Given the description of an element on the screen output the (x, y) to click on. 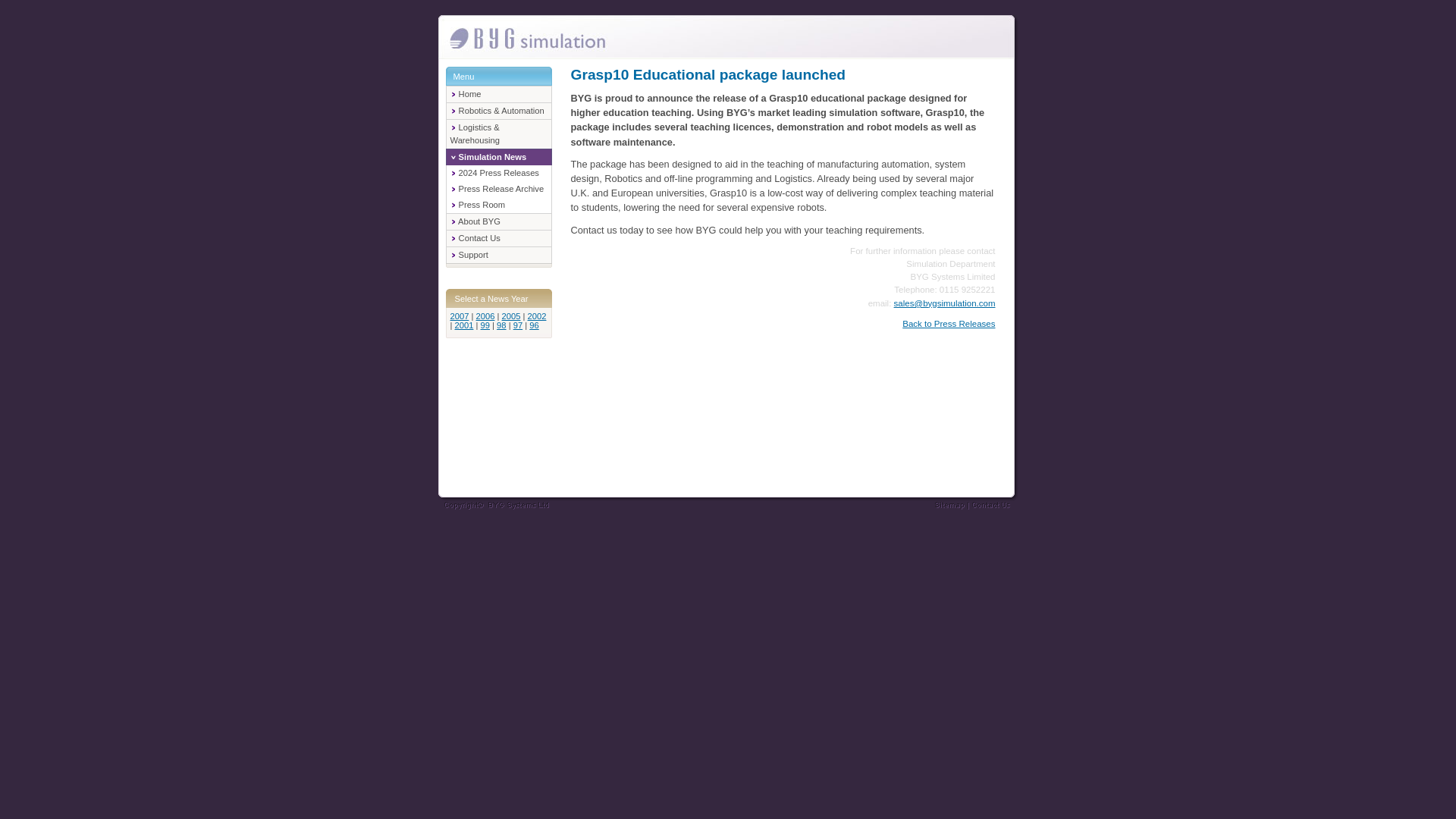
97 (517, 325)
Support (468, 254)
2006 (485, 316)
99 (484, 325)
Simulation News (488, 156)
Back to Press Releases (948, 323)
2001 (464, 325)
2024 Press Releases (493, 172)
Contact Us (474, 237)
96 (533, 325)
